Given the description of an element on the screen output the (x, y) to click on. 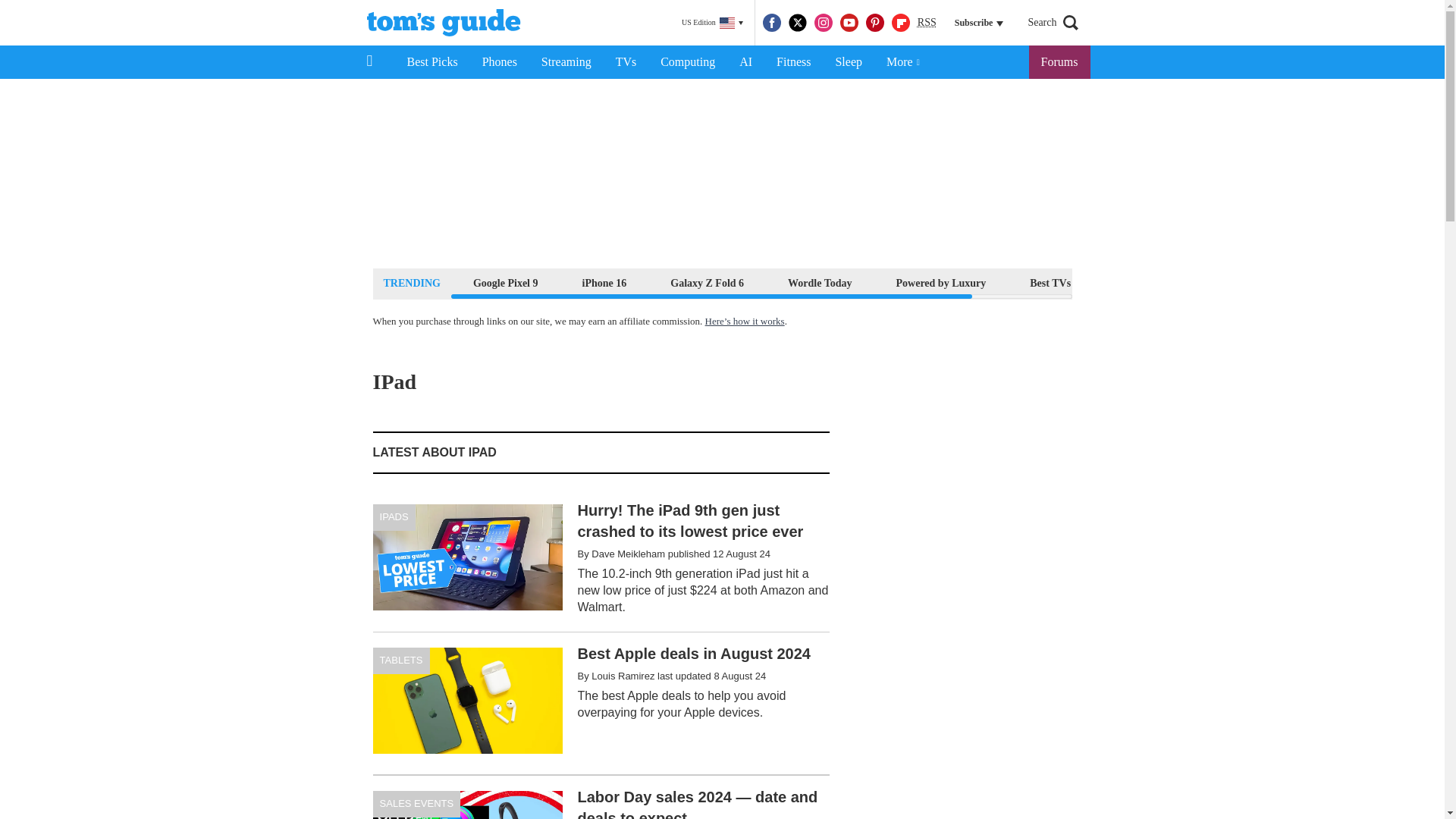
Best Picks (431, 61)
Fitness (793, 61)
Computing (686, 61)
US Edition (712, 22)
AI (745, 61)
Streaming (566, 61)
RSS (926, 22)
Phones (499, 61)
Really Simple Syndication (926, 21)
TVs (626, 61)
